Given the description of an element on the screen output the (x, y) to click on. 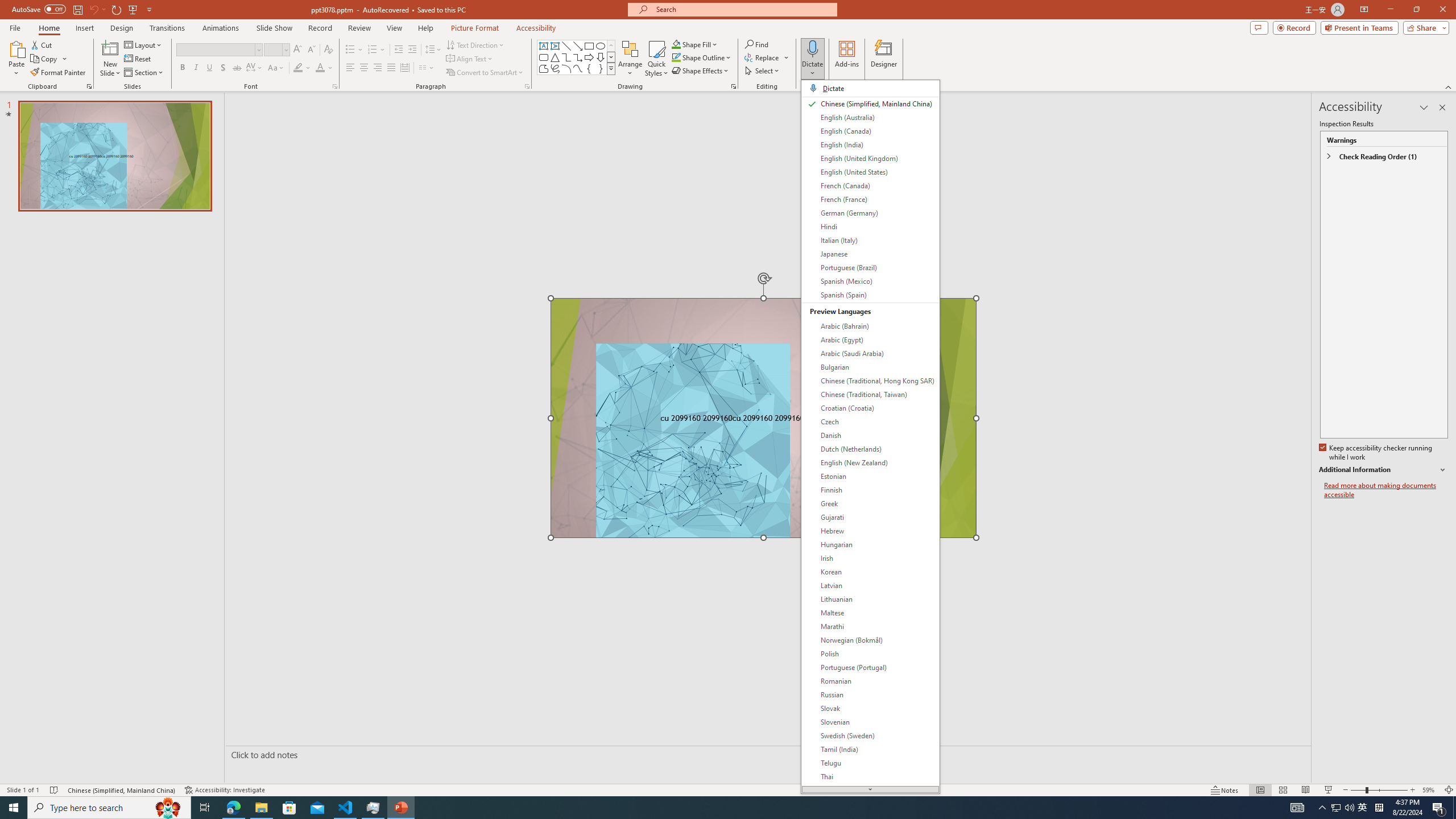
Task Manager - 1 running window (373, 807)
